Given the description of an element on the screen output the (x, y) to click on. 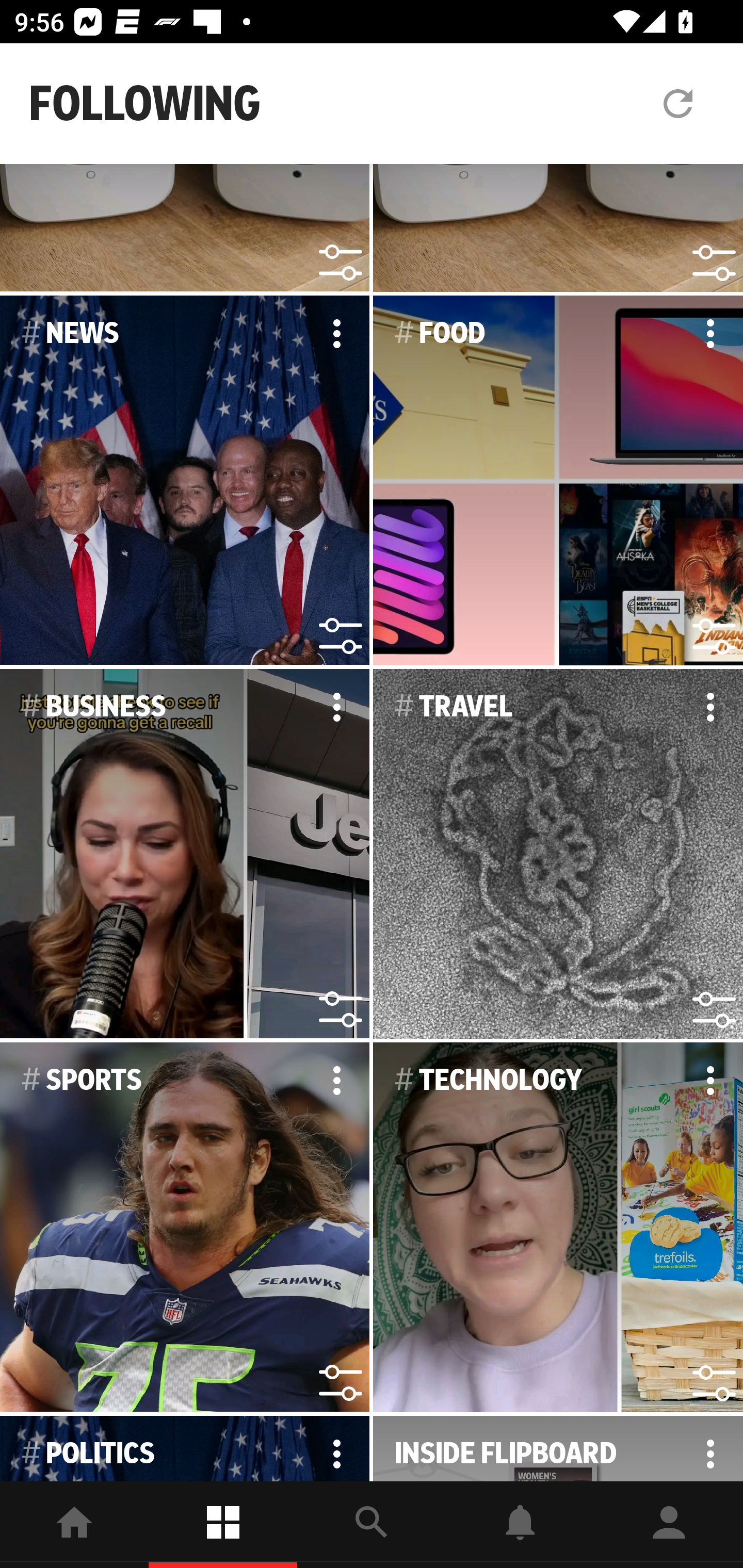
# NEWS Options (184, 479)
Options (336, 332)
# FOOD Options (557, 479)
Options (710, 332)
# BUSINESS Options (184, 853)
Options (336, 706)
# TRAVEL Options (557, 853)
Options (710, 706)
# SPORTS Options (184, 1227)
Options (336, 1079)
# TECHNOLOGY Options (557, 1227)
Options (710, 1079)
Options (336, 1448)
Options (710, 1448)
home (74, 1524)
Following (222, 1524)
explore (371, 1524)
Notifications (519, 1524)
Profile (668, 1524)
